Given the description of an element on the screen output the (x, y) to click on. 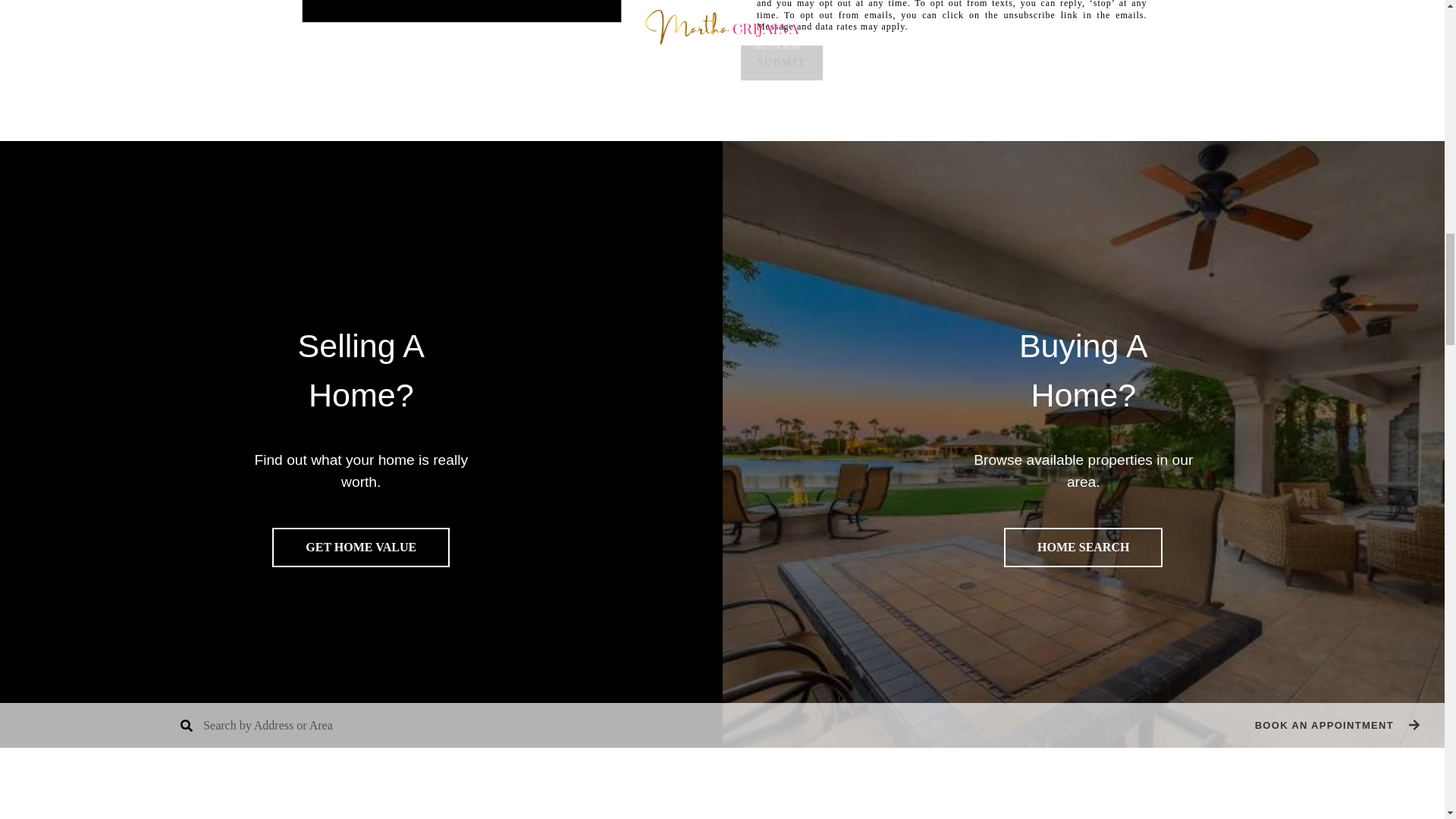
HOME SEARCH (1082, 547)
SUBMIT (780, 62)
GET HOME VALUE (360, 547)
